Given the description of an element on the screen output the (x, y) to click on. 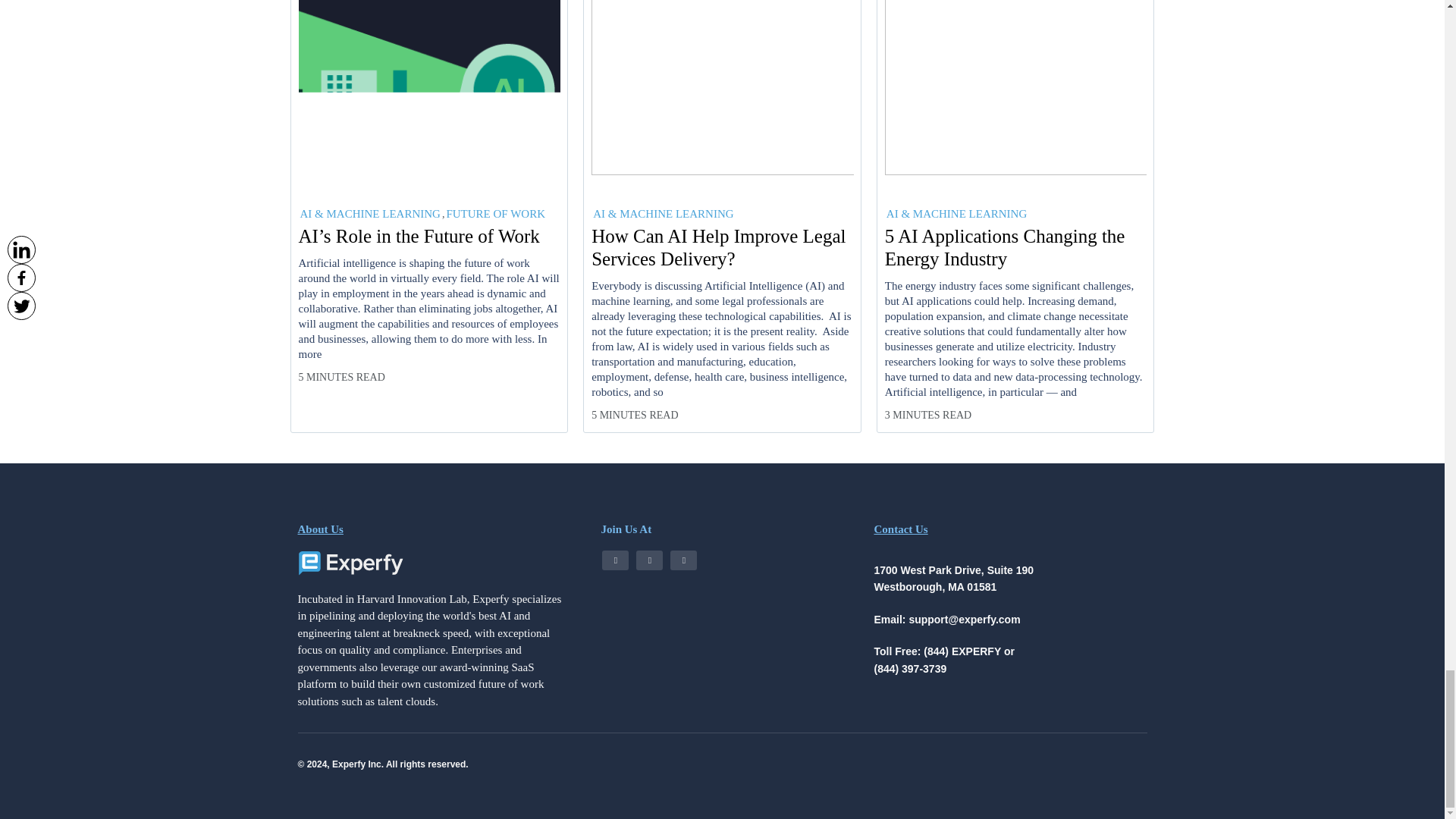
FUTURE OF WORK (494, 214)
